Given the description of an element on the screen output the (x, y) to click on. 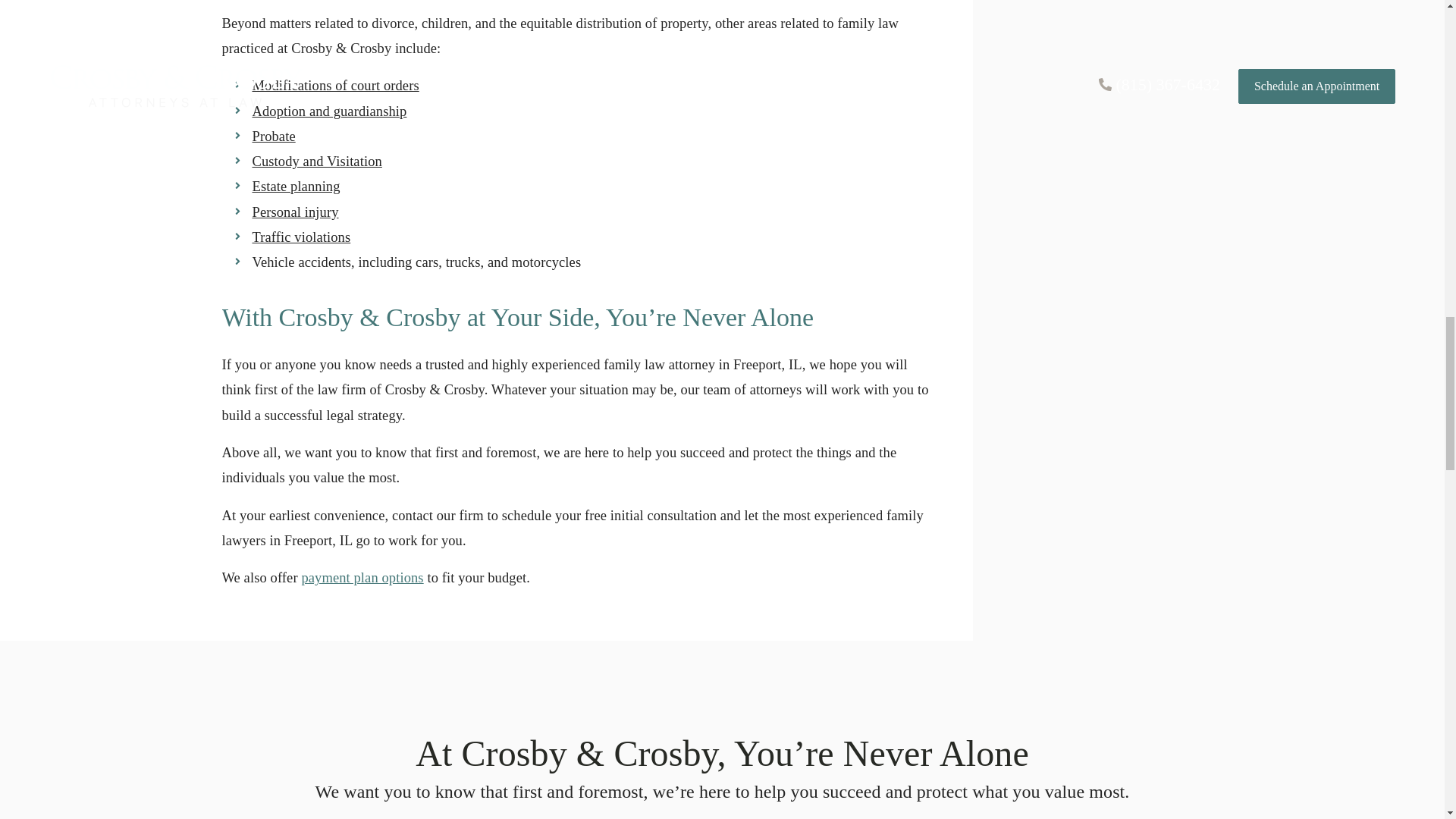
Modifications of court orders (335, 85)
Adoption and guardianship (328, 111)
